Given the description of an element on the screen output the (x, y) to click on. 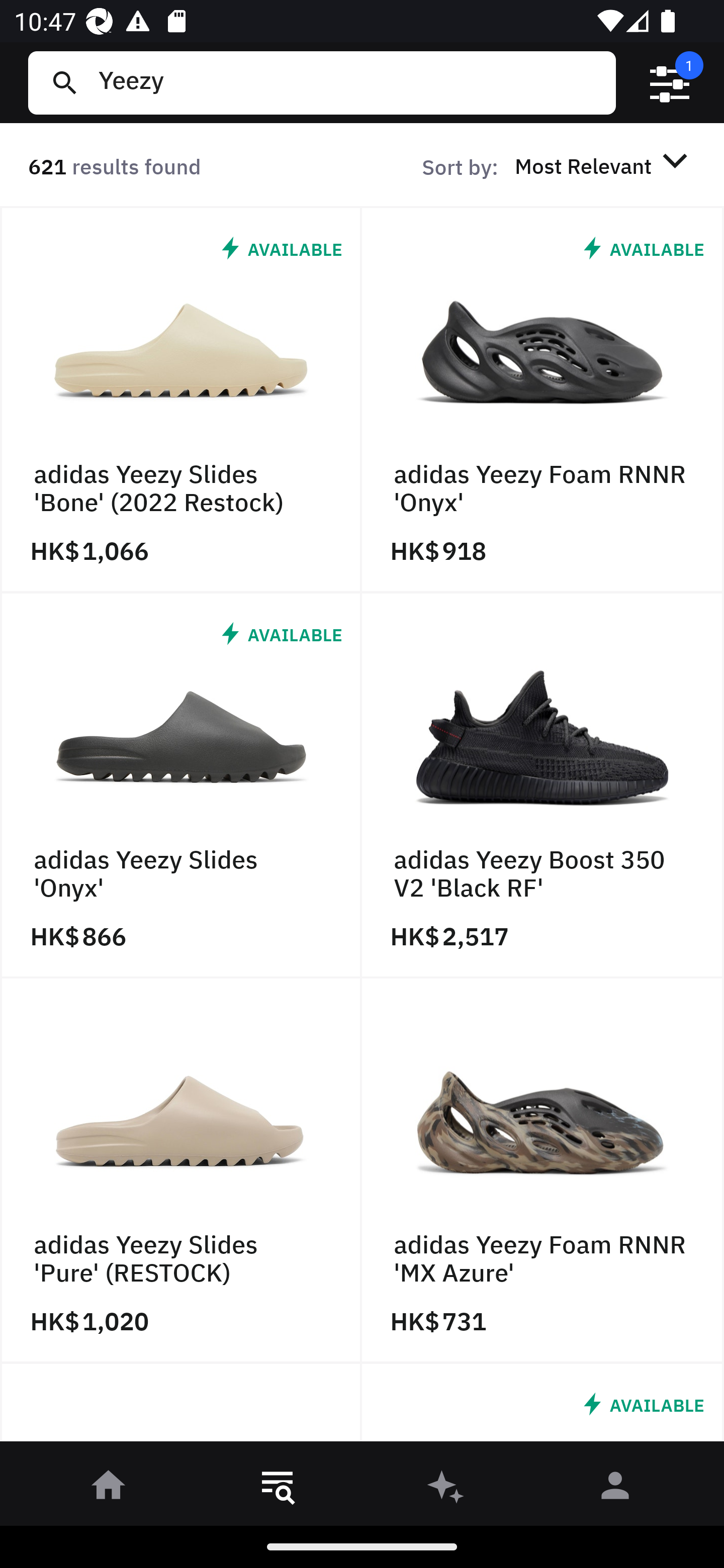
Yeezy (349, 82)
 (669, 82)
Most Relevant  (604, 165)
 AVAILABLE adidas Yeezy Foam RNNR 'Onyx' HK$ 918 (543, 399)
 AVAILABLE adidas Yeezy Slides 'Onyx' HK$ 866 (181, 785)
adidas Yeezy Boost 350 V2 'Black RF' HK$ 2,517 (543, 785)
adidas Yeezy Slides 'Pure' (RESTOCK) HK$ 1,020 (181, 1171)
adidas Yeezy Foam RNNR 'MX Azure' HK$ 731 (543, 1171)
󰋜 (108, 1488)
󱎸 (277, 1488)
󰫢 (446, 1488)
󰀄 (615, 1488)
